Given the description of an element on the screen output the (x, y) to click on. 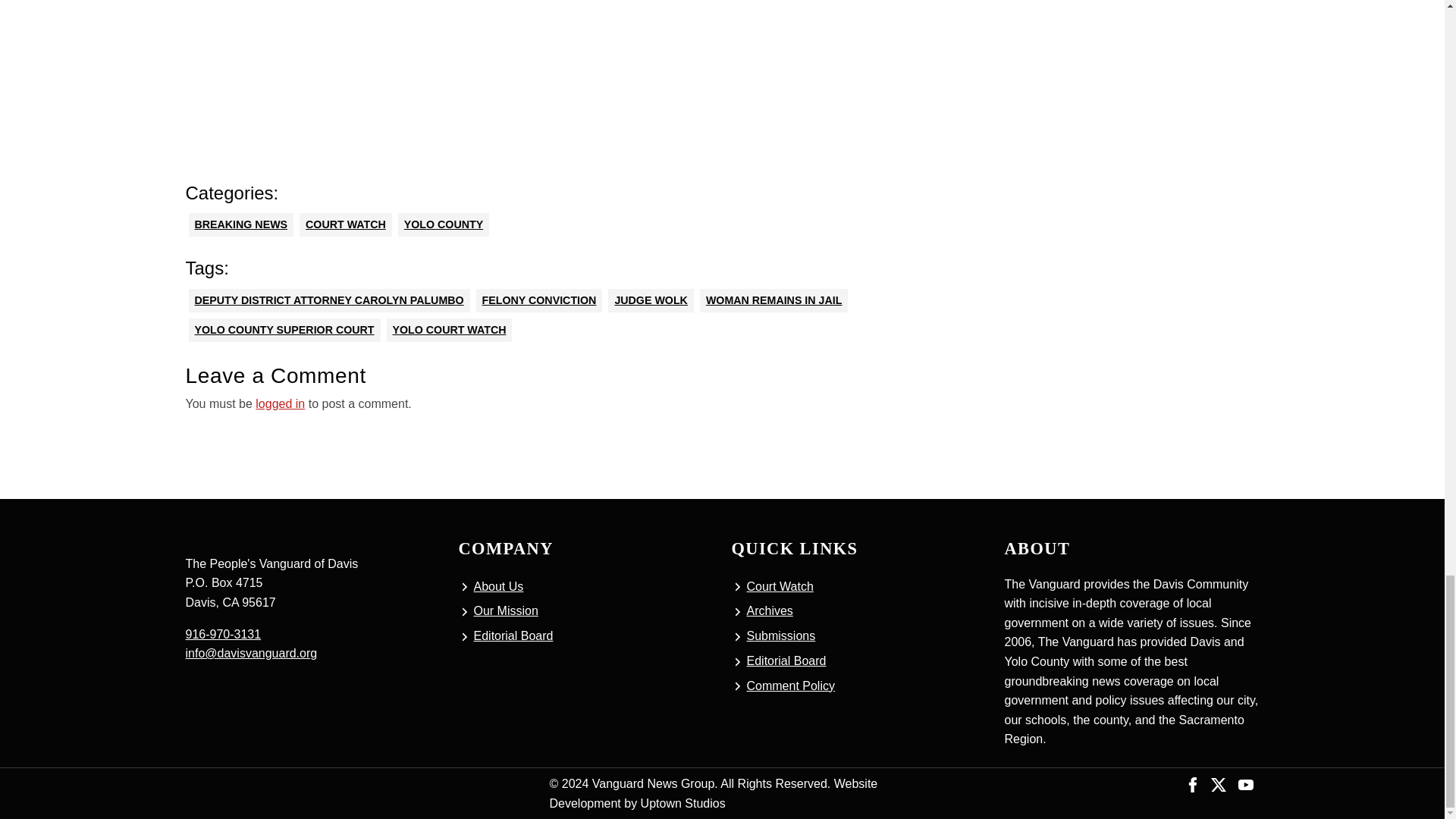
Facebook (1192, 783)
YouTube (1245, 783)
Twitter (1218, 783)
